Given the description of an element on the screen output the (x, y) to click on. 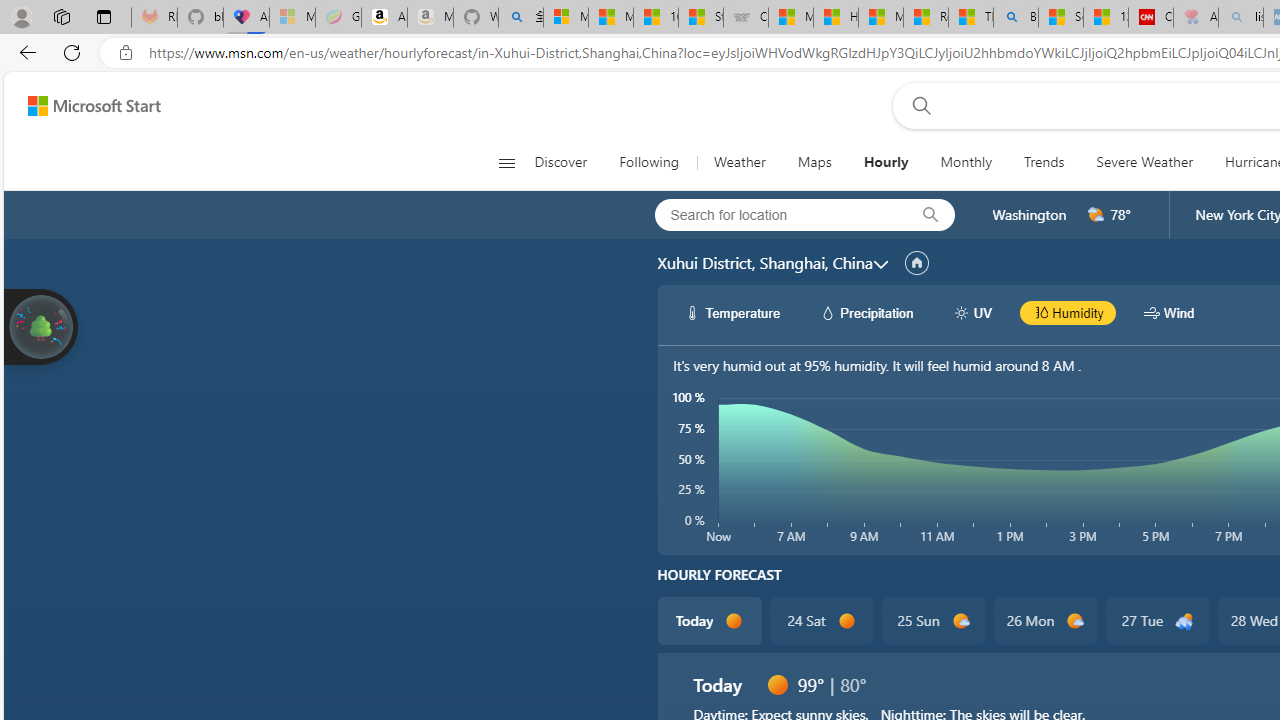
Severe Weather (1144, 162)
d2000 (1096, 215)
hourlyChart/humidityBlack Humidity (1068, 312)
locationBar/search (930, 215)
locationName/setHomeLocation (916, 263)
hourlyChart/temperatureWhite Temperature (733, 312)
hourlyChart/uvWhite (961, 312)
